Given the description of an element on the screen output the (x, y) to click on. 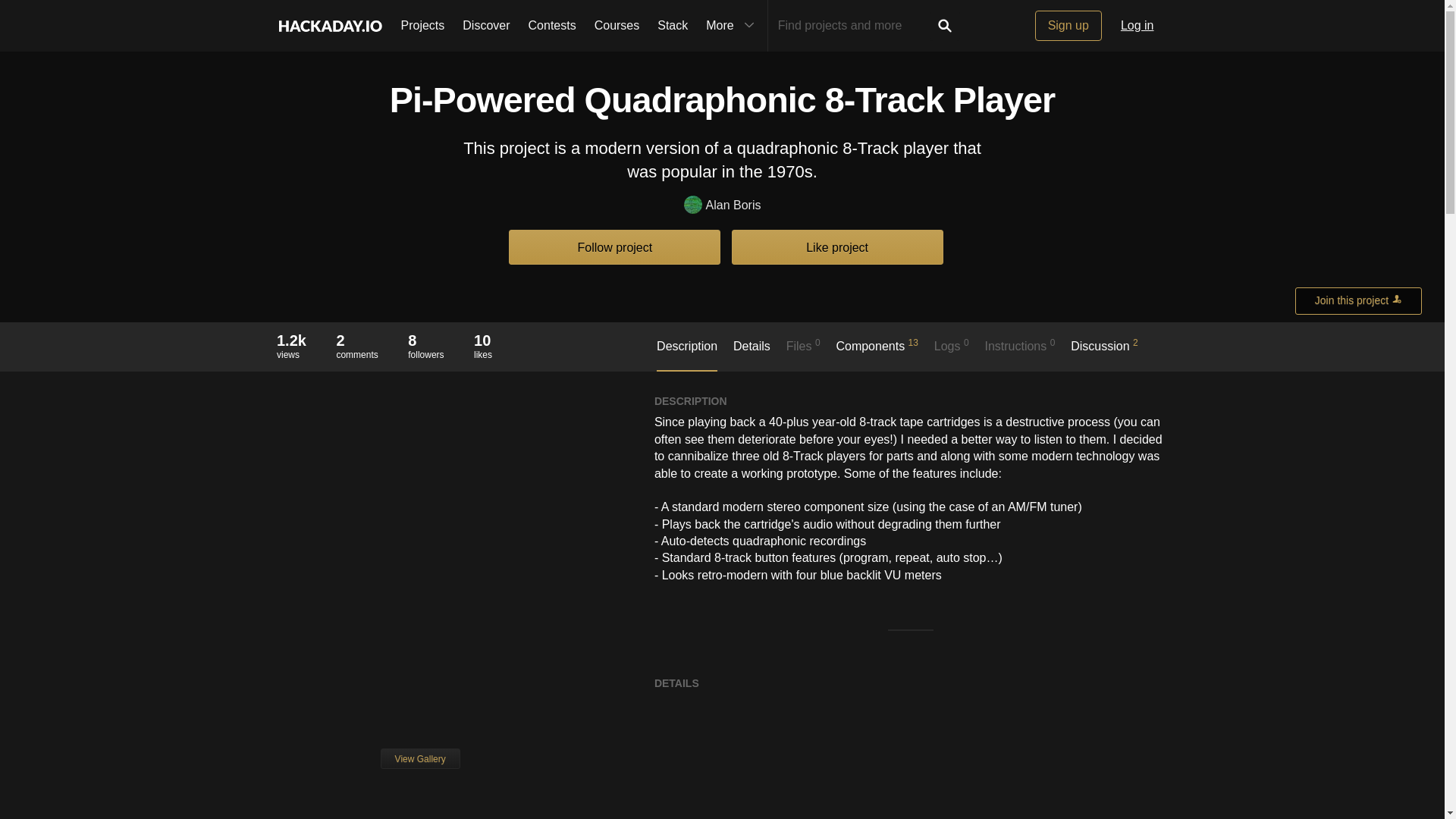
Followers (425, 340)
Description (686, 354)
More (732, 25)
Alan Boris (722, 205)
Contests (552, 25)
Projects (421, 25)
Details (751, 354)
Discover (485, 25)
Two characters minimum (853, 25)
Details (751, 354)
